Given the description of an element on the screen output the (x, y) to click on. 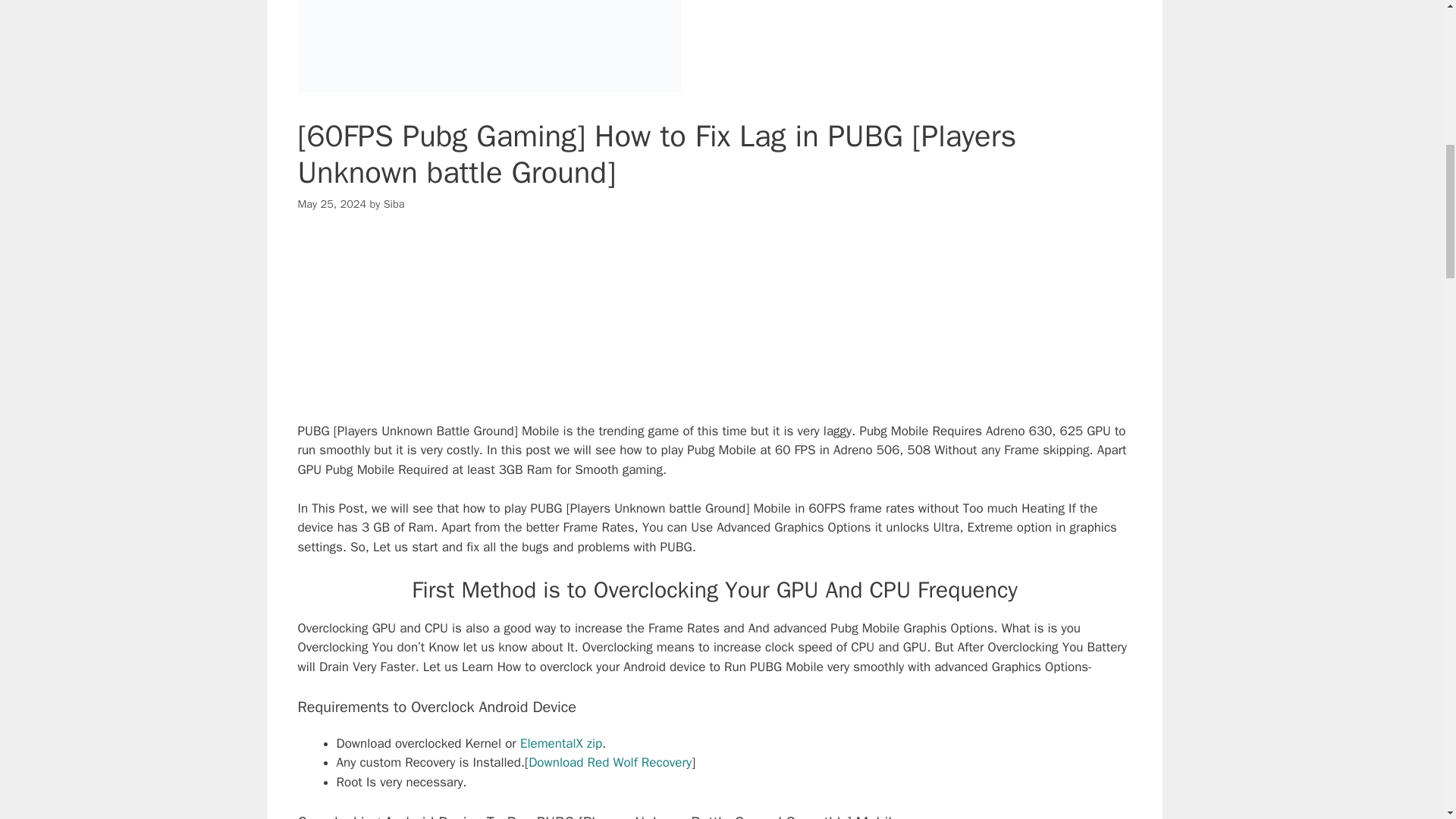
ElementalX zip (560, 743)
Siba (394, 203)
Download Red Wolf Recovery (609, 762)
View all posts by Siba (394, 203)
